Given the description of an element on the screen output the (x, y) to click on. 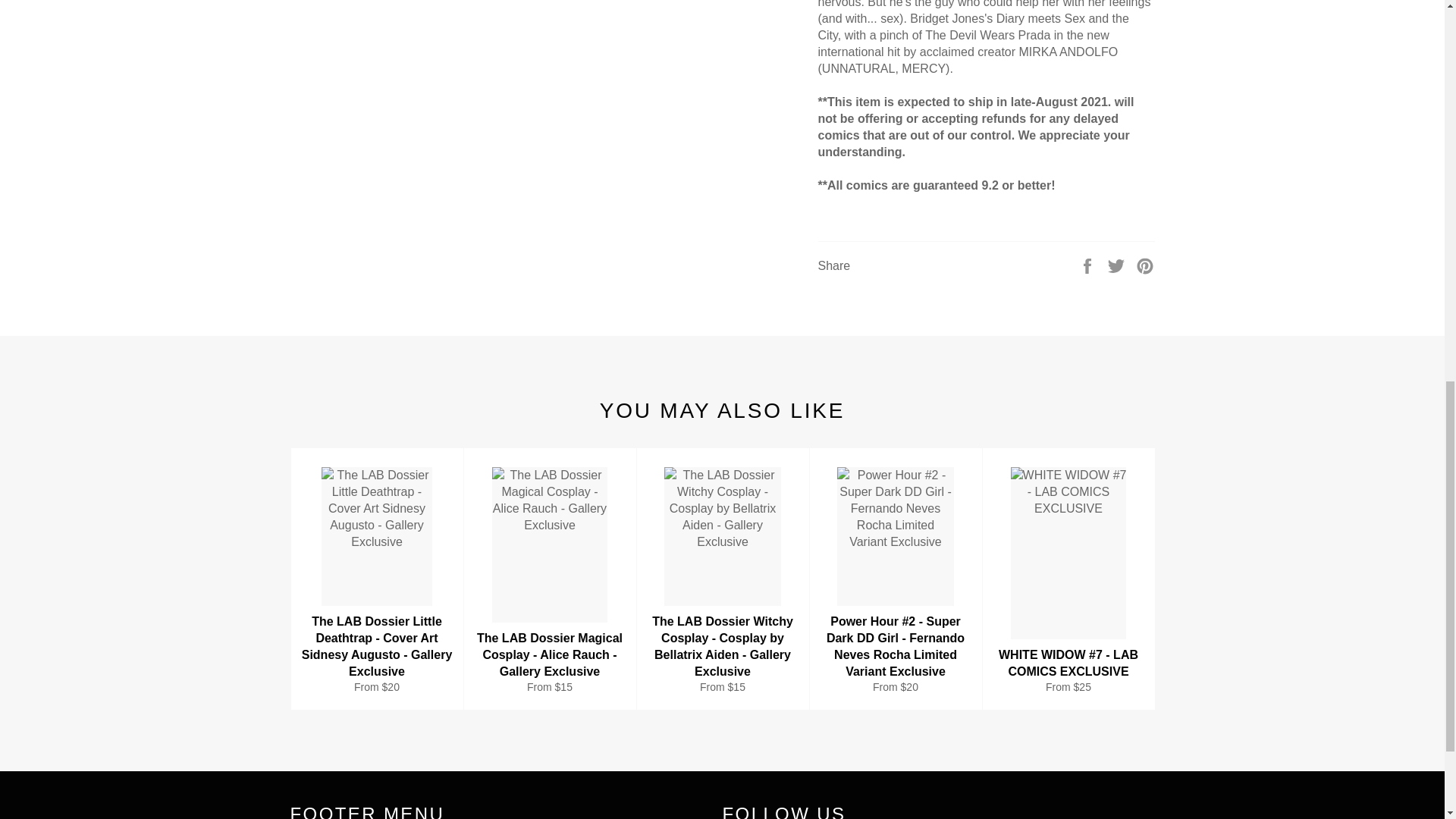
Tweet on Twitter (1117, 264)
Share on Facebook (1088, 264)
Pin on Pinterest (1144, 264)
